Given the description of an element on the screen output the (x, y) to click on. 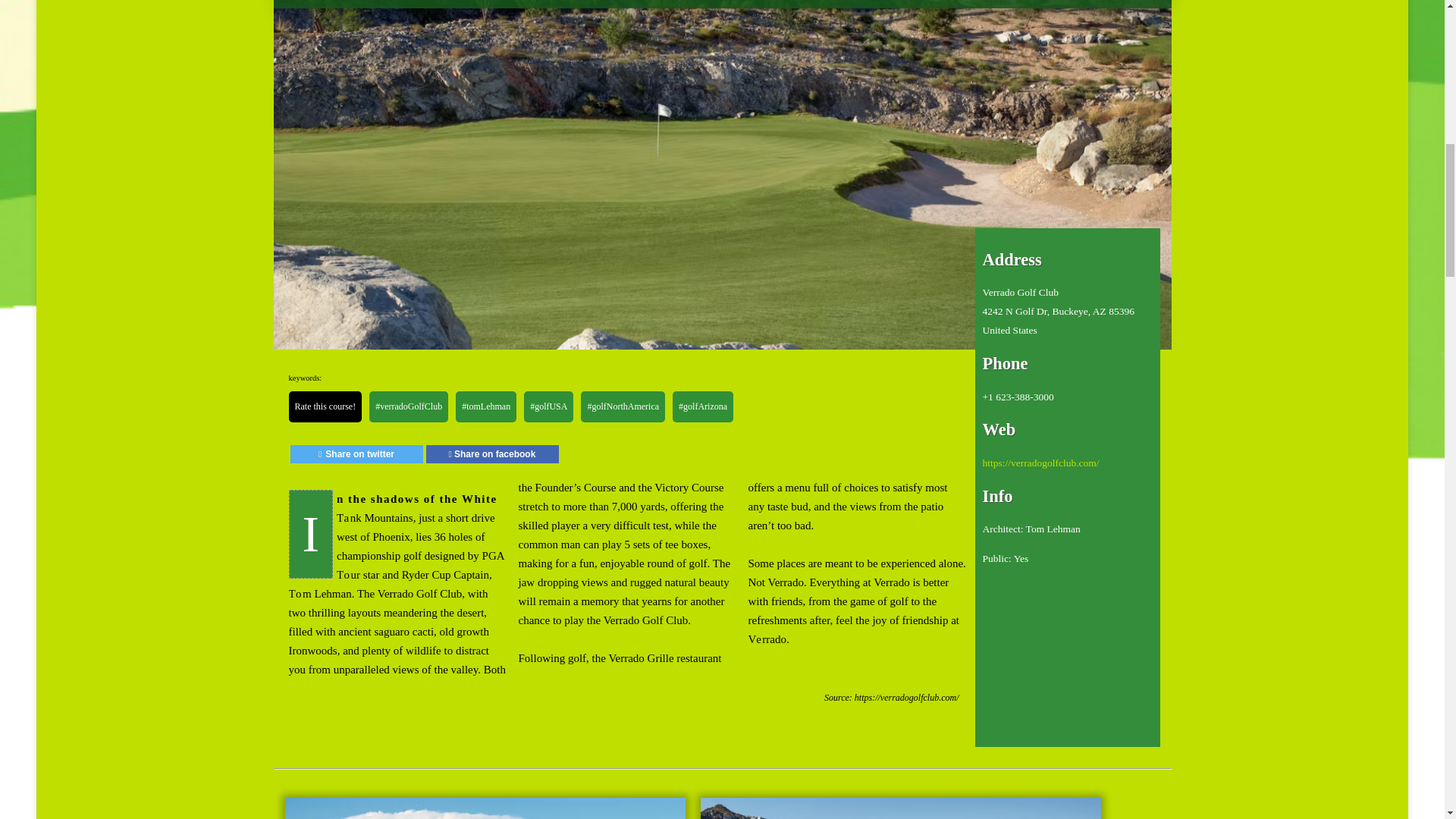
Share on twitter (355, 454)
Share on facebook (492, 454)
tweet (355, 454)
